Given the description of an element on the screen output the (x, y) to click on. 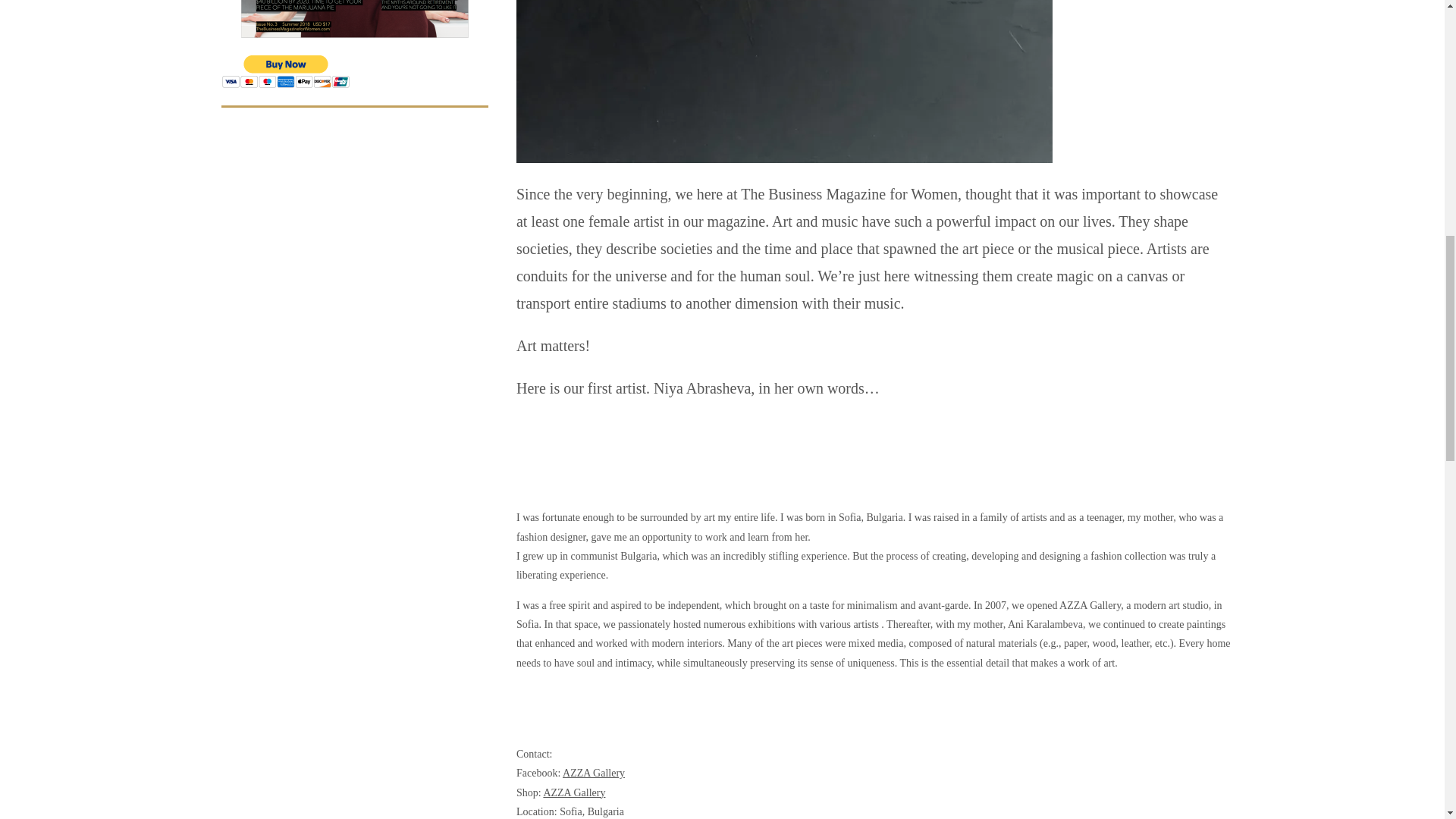
AZZA Gallery (593, 772)
AZZA Gallery (574, 792)
